Given the description of an element on the screen output the (x, y) to click on. 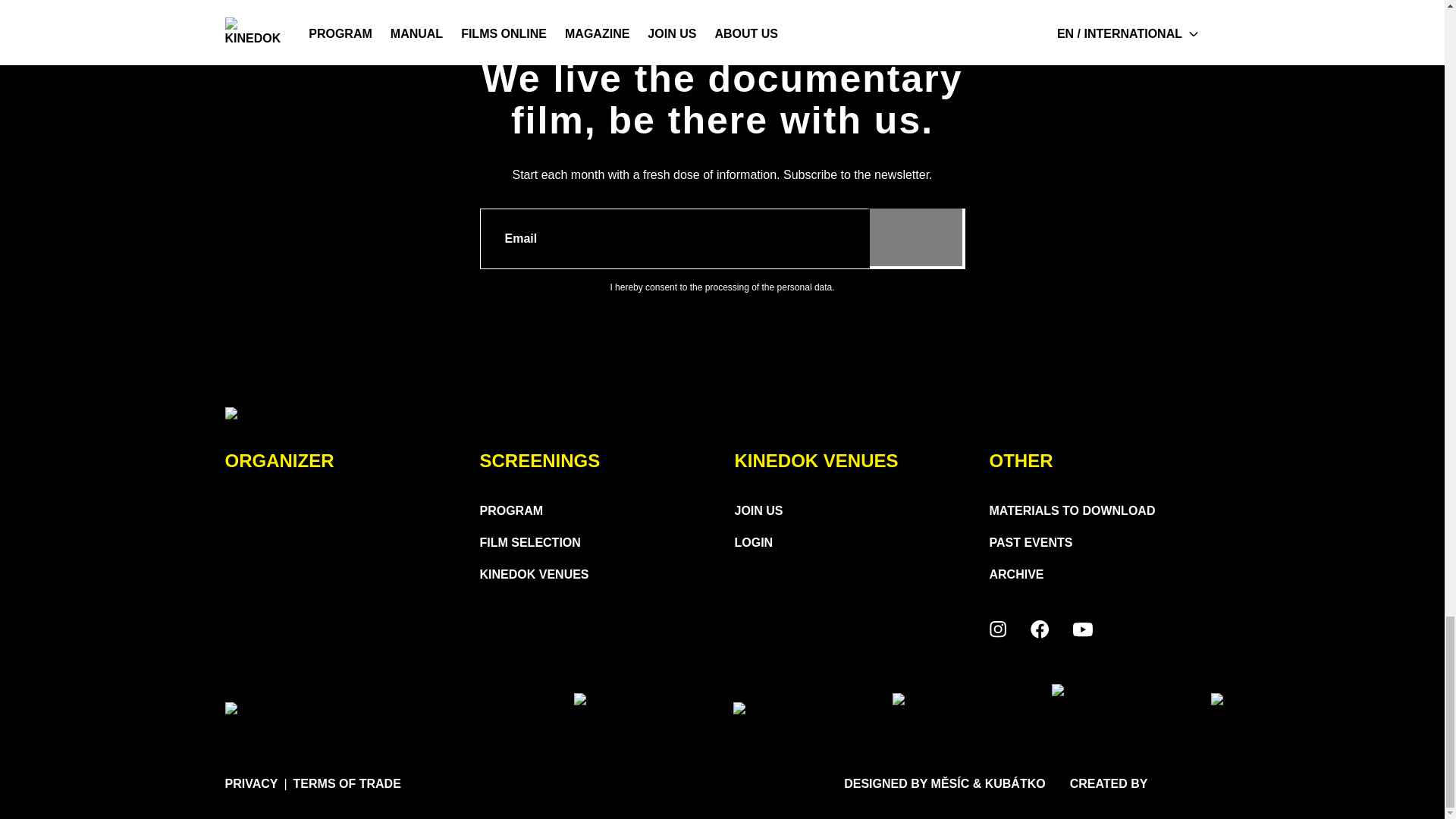
PROGRAM (511, 511)
SUBSCRIBE (913, 235)
